Given the description of an element on the screen output the (x, y) to click on. 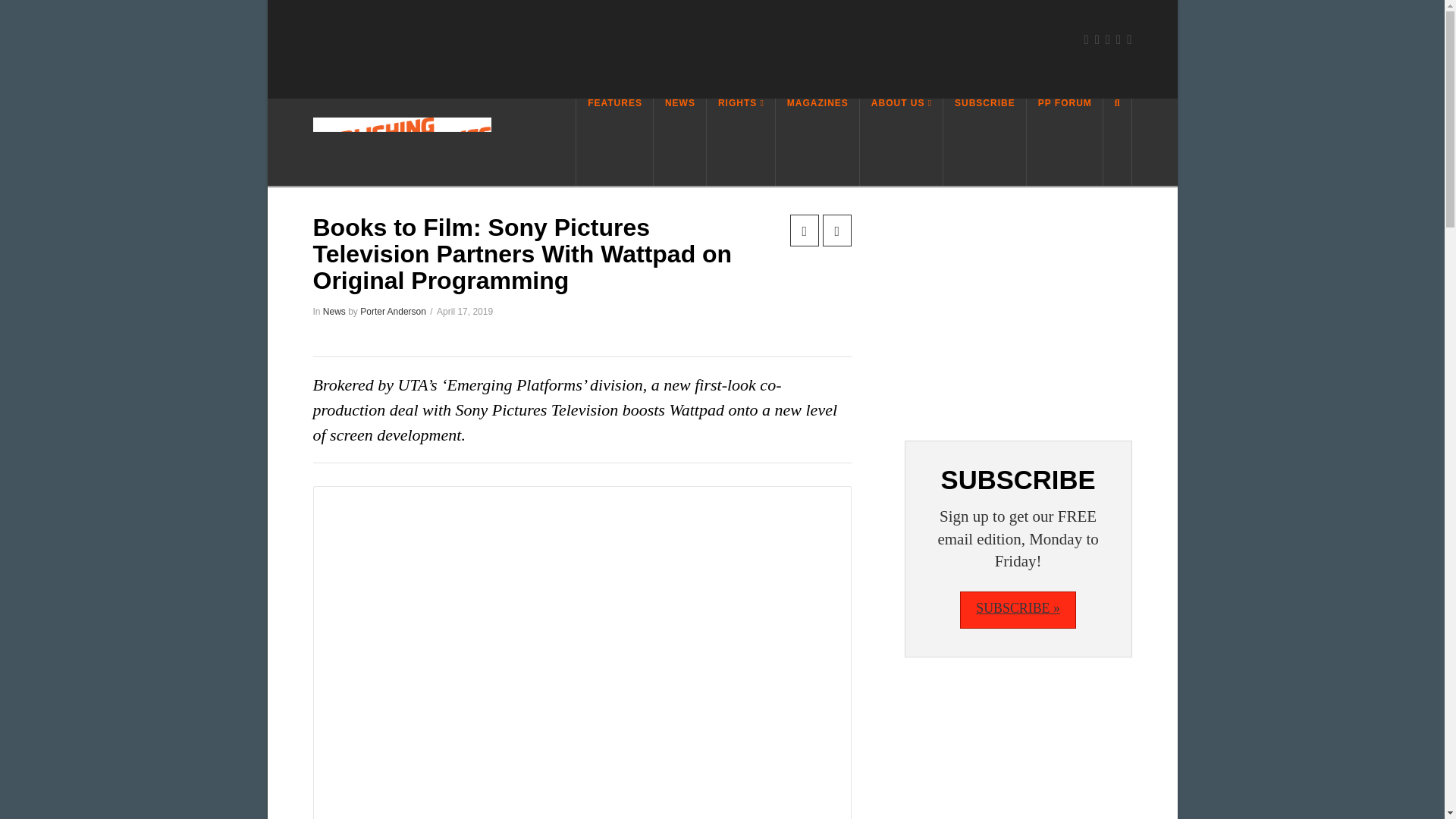
Porter Anderson (392, 311)
MAGAZINES (818, 141)
SUBSCRIBE (984, 141)
News (334, 311)
FEATURES (614, 141)
ABOUT US (901, 141)
